Given the description of an element on the screen output the (x, y) to click on. 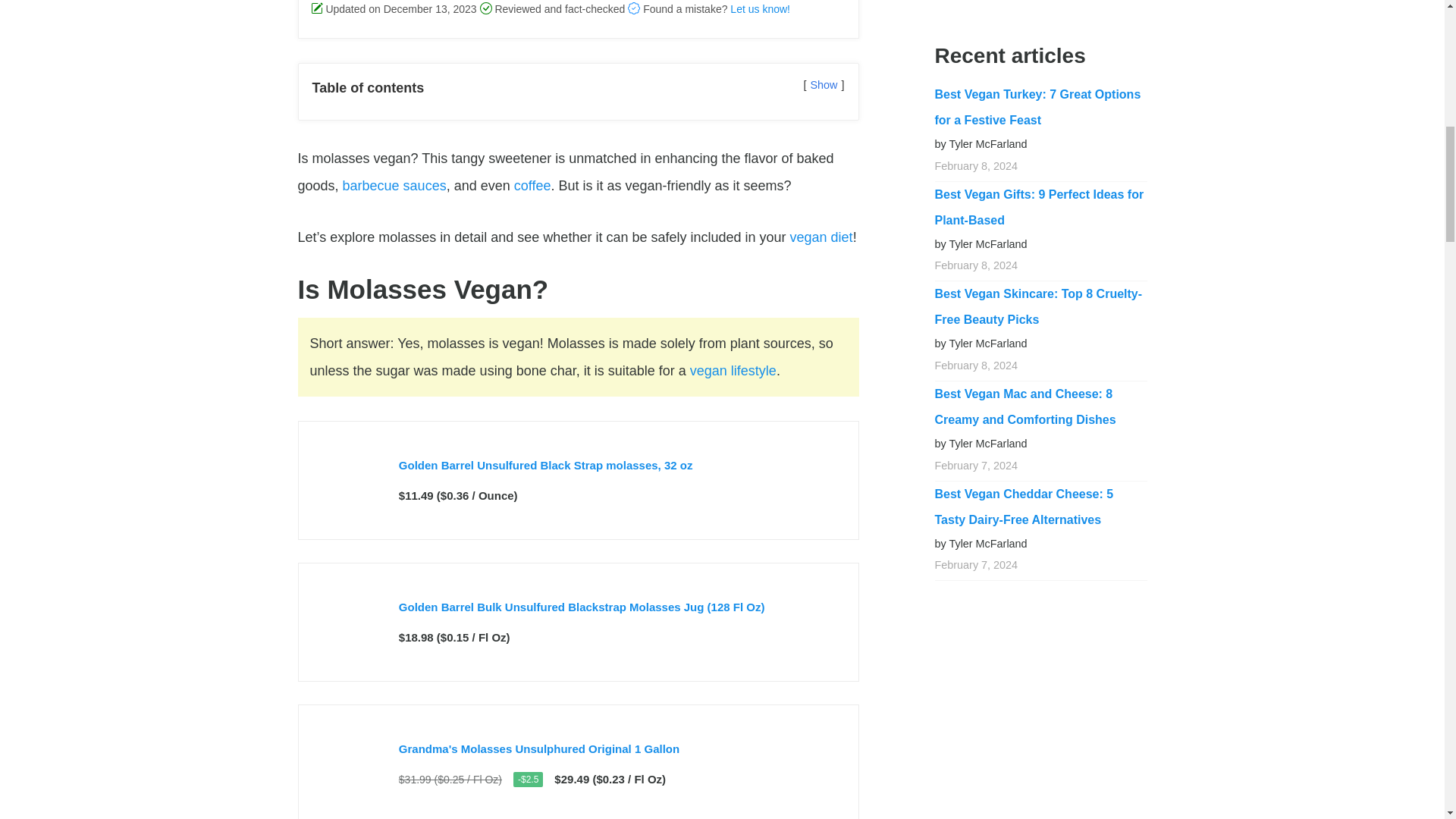
Grandma's Molasses Unsulphured Original 1 Gallon (538, 748)
Golden Barrel Unsulfured Black Strap molasses, 32 oz (545, 464)
Let us know! (760, 9)
Show (823, 84)
